Given the description of an element on the screen output the (x, y) to click on. 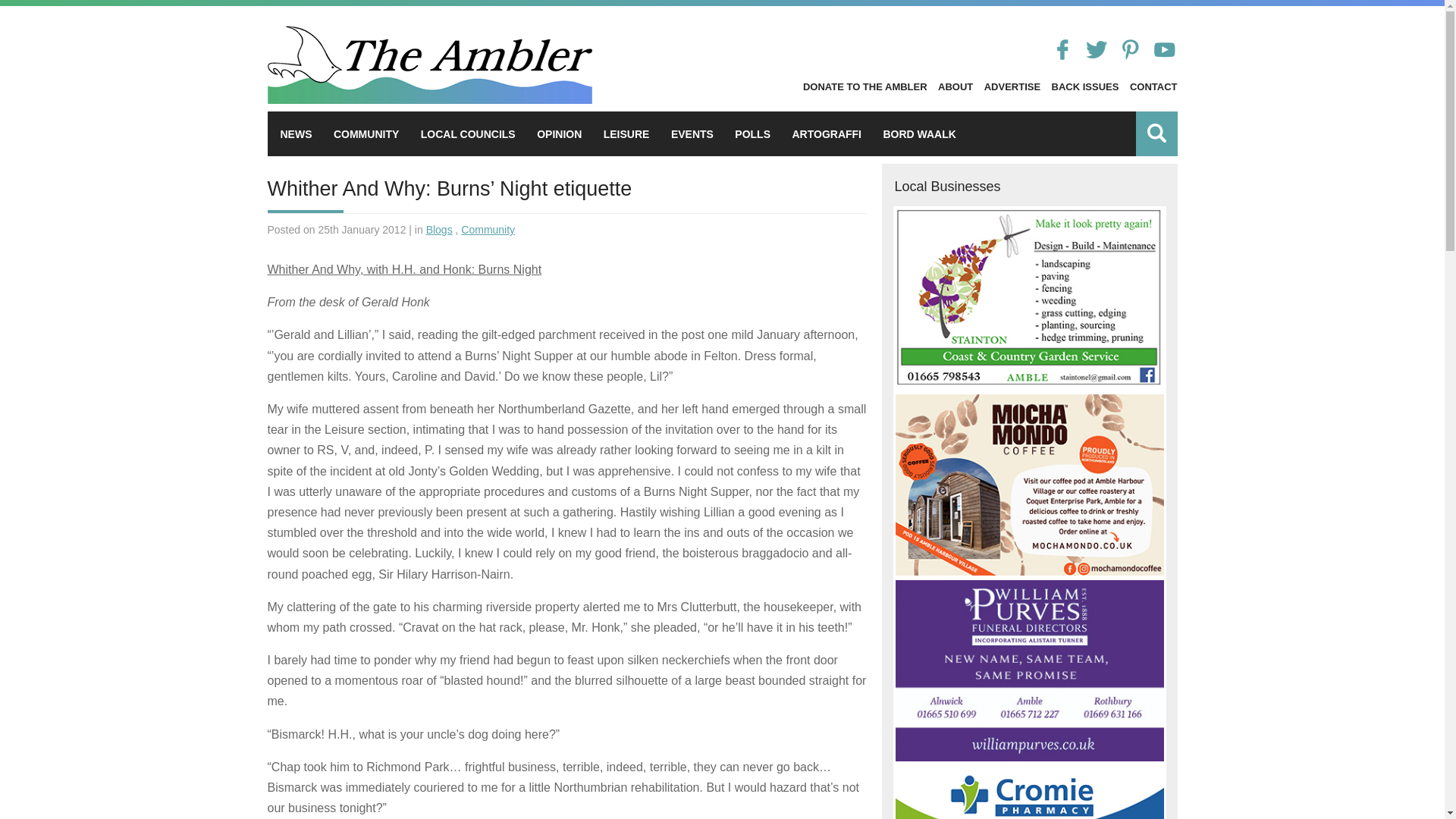
EVENTS (692, 133)
NEWS (297, 133)
ABOUT (954, 86)
POLLS (752, 133)
BACK ISSUES (1085, 86)
LOCAL COUNCILS (467, 133)
DONATE TO THE AMBLER (865, 86)
COMMUNITY (365, 133)
ARTOGRAFFI (826, 133)
BORD WAALK (918, 133)
